Given the description of an element on the screen output the (x, y) to click on. 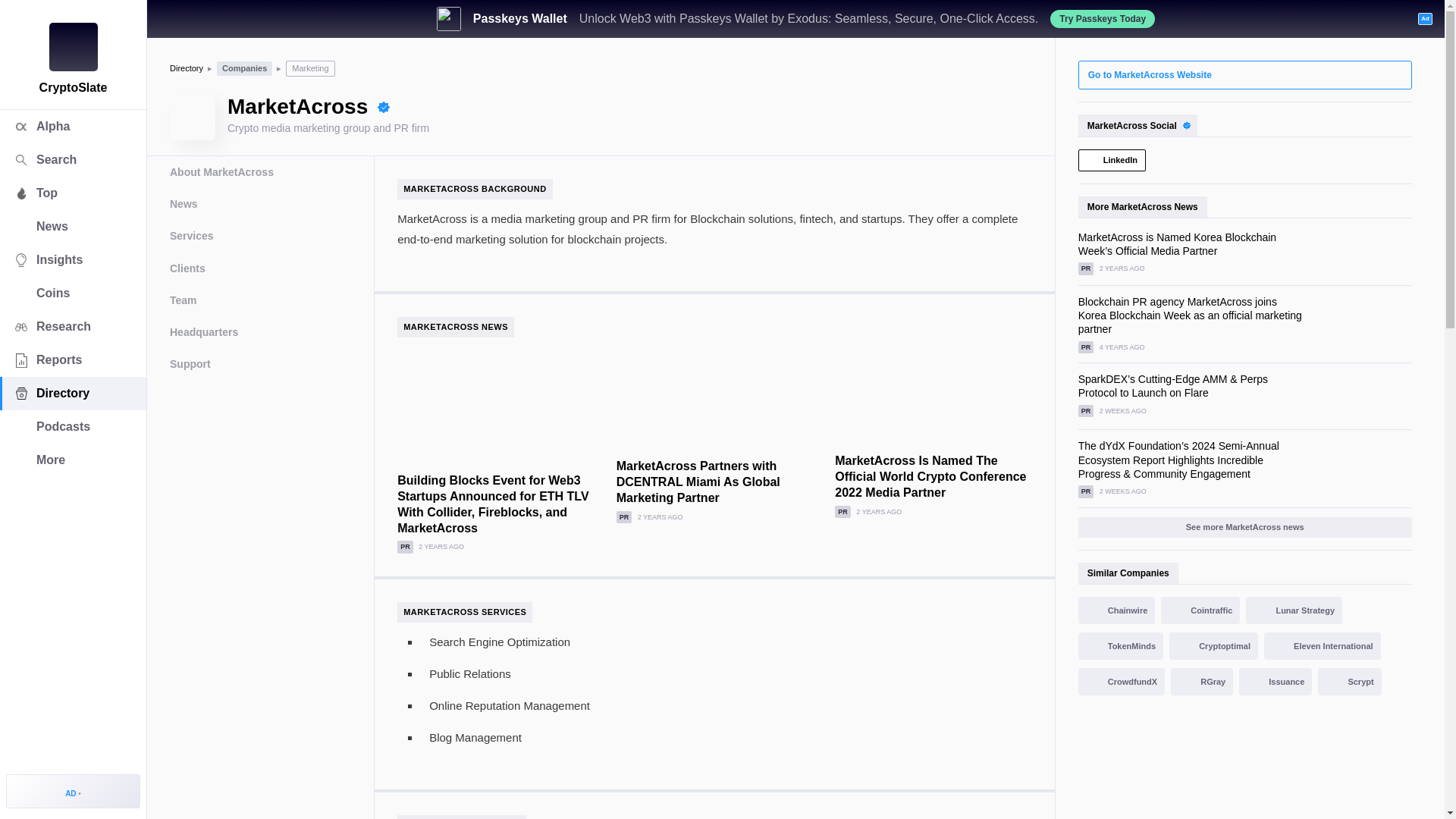
News (73, 226)
AD (72, 790)
Alpha (73, 126)
Directory (73, 393)
CryptoSlate (72, 46)
Insights (73, 259)
Reports (73, 359)
Podcasts (73, 426)
 CryptoSlate (72, 46)
Research (73, 326)
Top (73, 192)
Coins (73, 293)
